Given the description of an element on the screen output the (x, y) to click on. 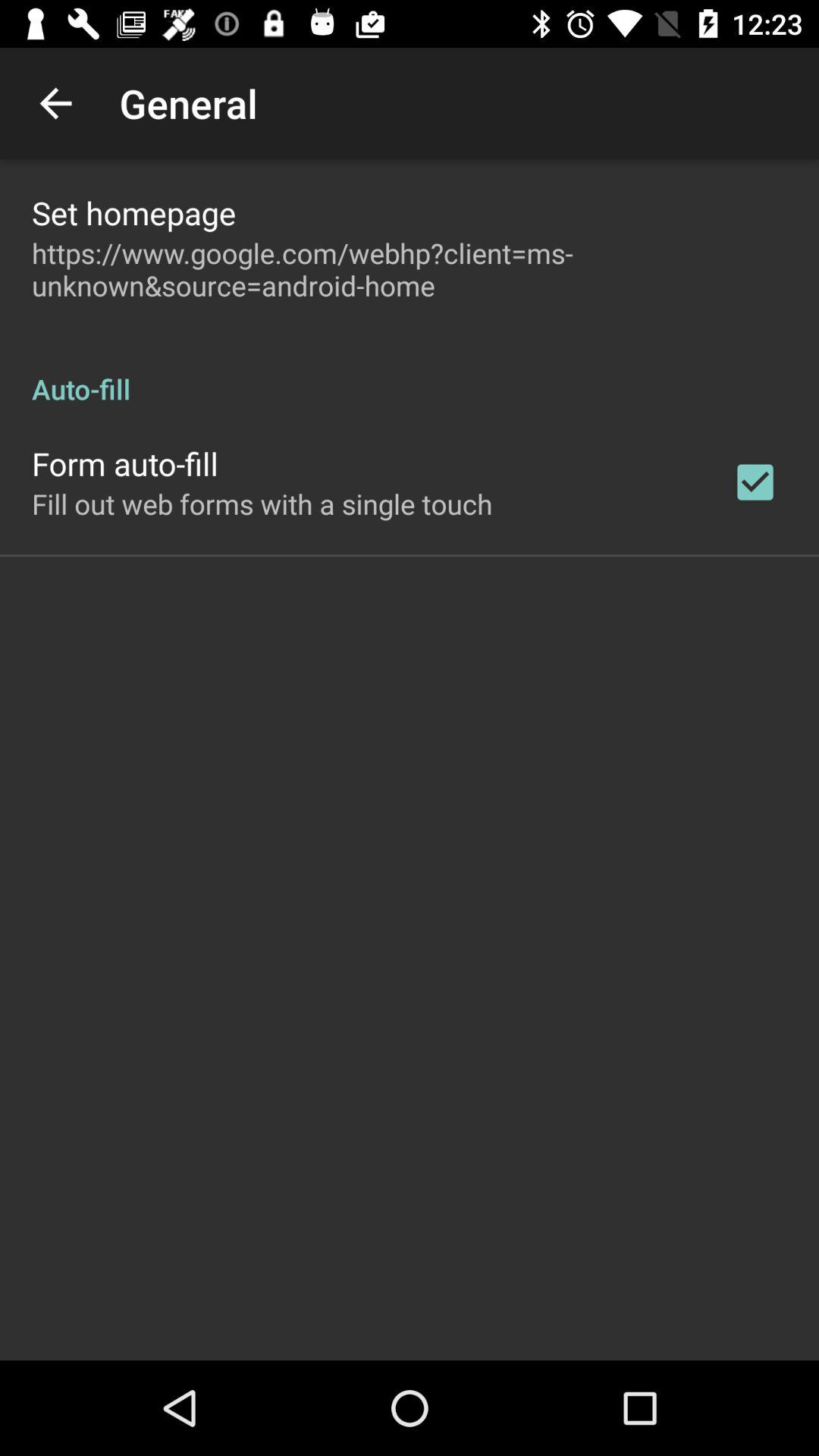
choose item to the right of the fill out web app (755, 482)
